Given the description of an element on the screen output the (x, y) to click on. 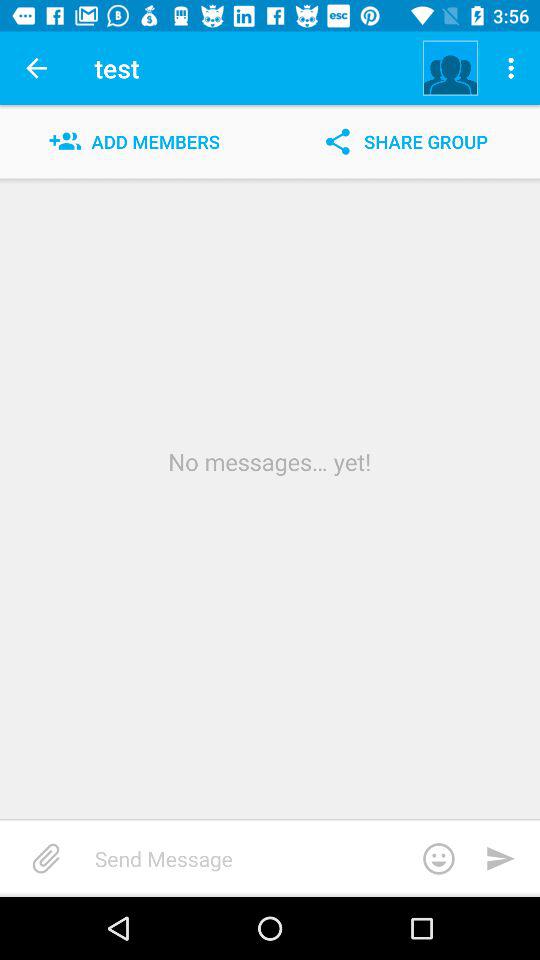
launch item to the left of test item (36, 68)
